Given the description of an element on the screen output the (x, y) to click on. 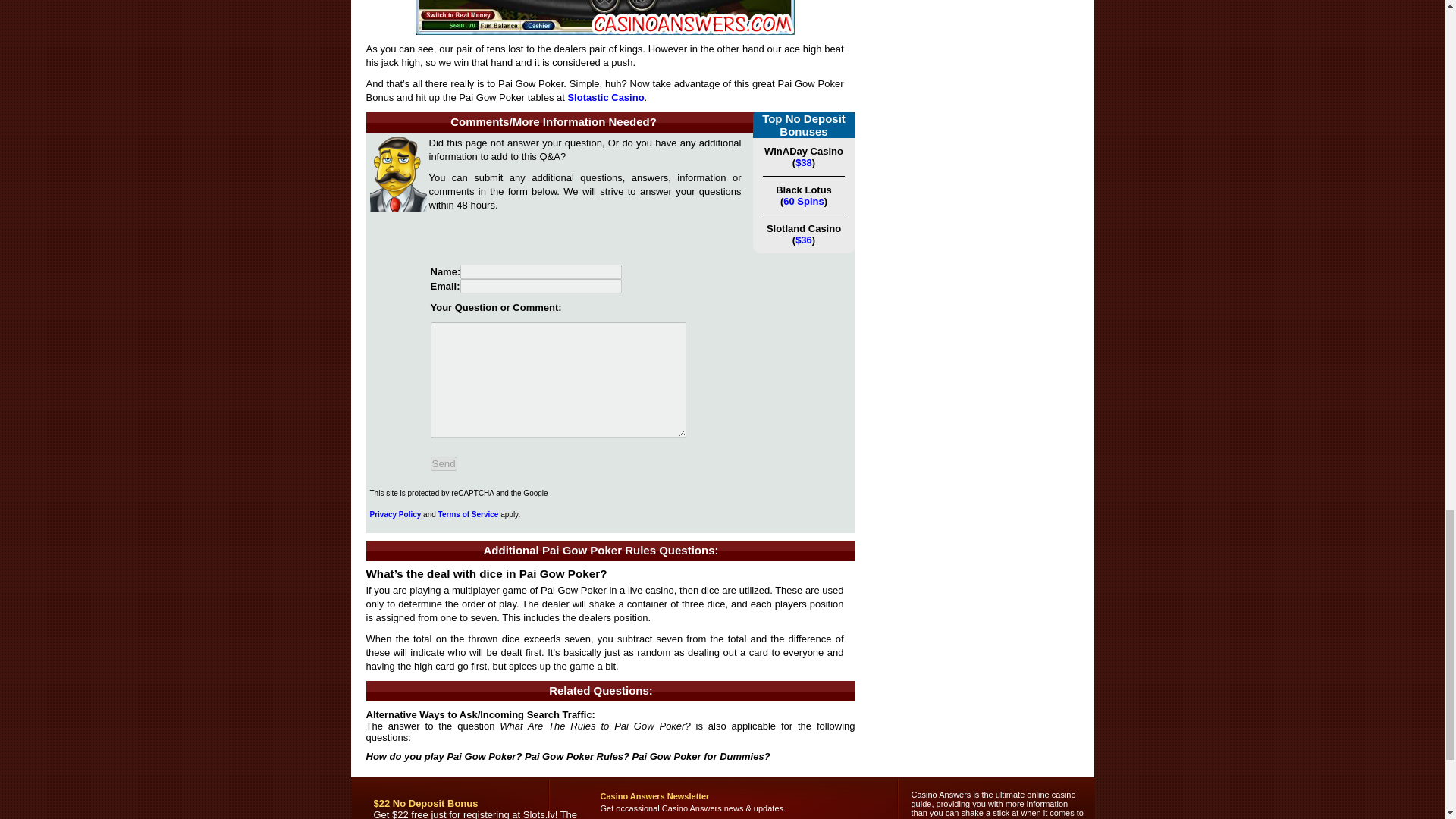
how-to-play-pai-gow-poker-5 (604, 17)
Send (443, 463)
